Given the description of an element on the screen output the (x, y) to click on. 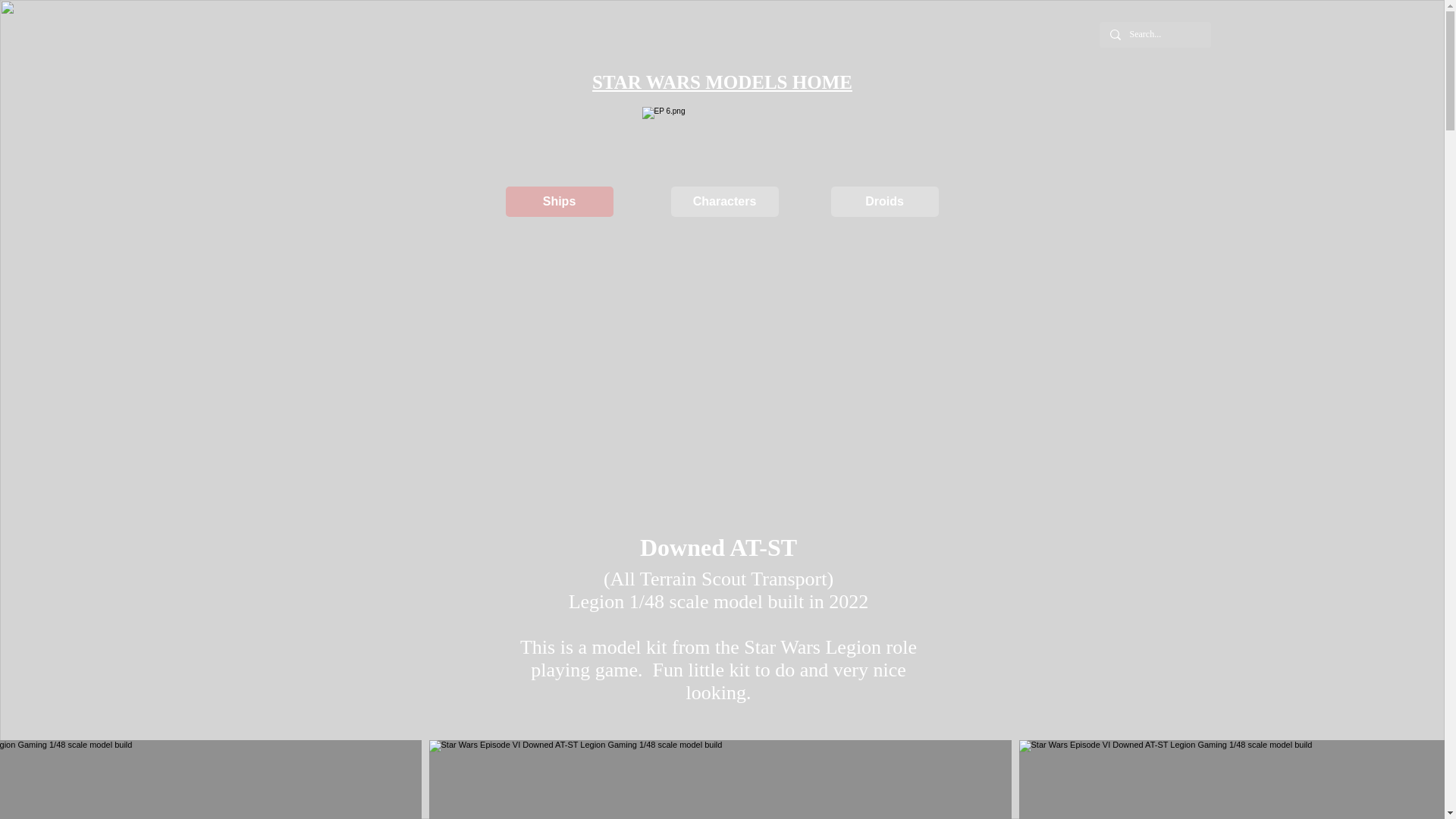
Characters (723, 201)
Droids (885, 201)
STAR WARS MODELS HOME (721, 82)
